Given the description of an element on the screen output the (x, y) to click on. 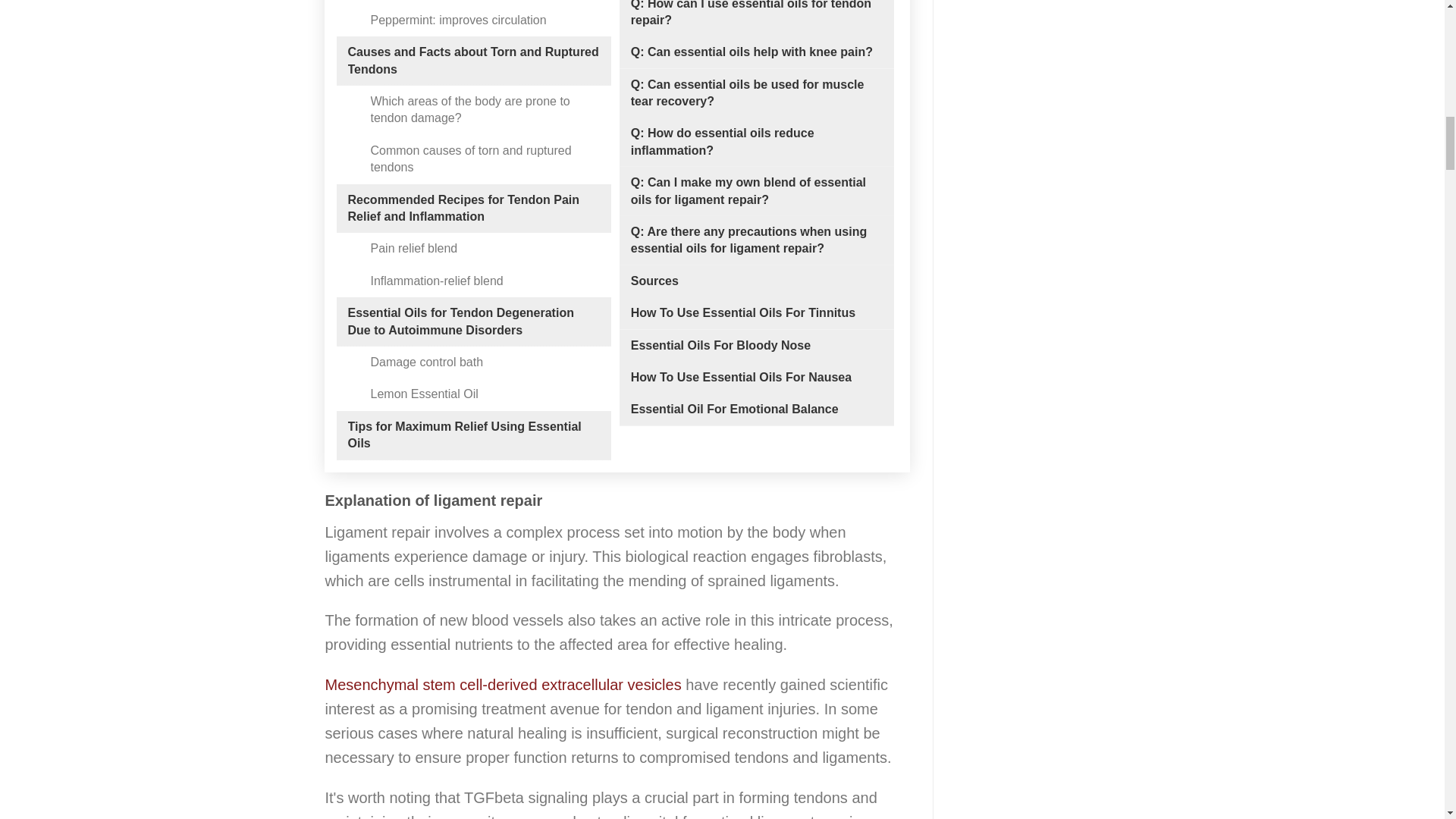
How To Use Essential Oils For Tinnitus (743, 312)
Q: Can essential oils help with knee pain? (751, 52)
Peppermint: improves circulation (457, 20)
Inflammation-relief blend (435, 280)
How To Use Essential Oils For Nausea (740, 377)
Tips for Maximum Relief Using Essential Oils (472, 435)
Q: How do essential oils reduce inflammation? (756, 141)
Q: How can I use essential oils for tendon repair? (756, 14)
Essential Oil For Emotional Balance (734, 409)
Lemon Essential Oil (423, 393)
Sources (654, 280)
Pain relief blend (413, 248)
Q: Can essential oils be used for muscle tear recovery? (756, 93)
